Given the description of an element on the screen output the (x, y) to click on. 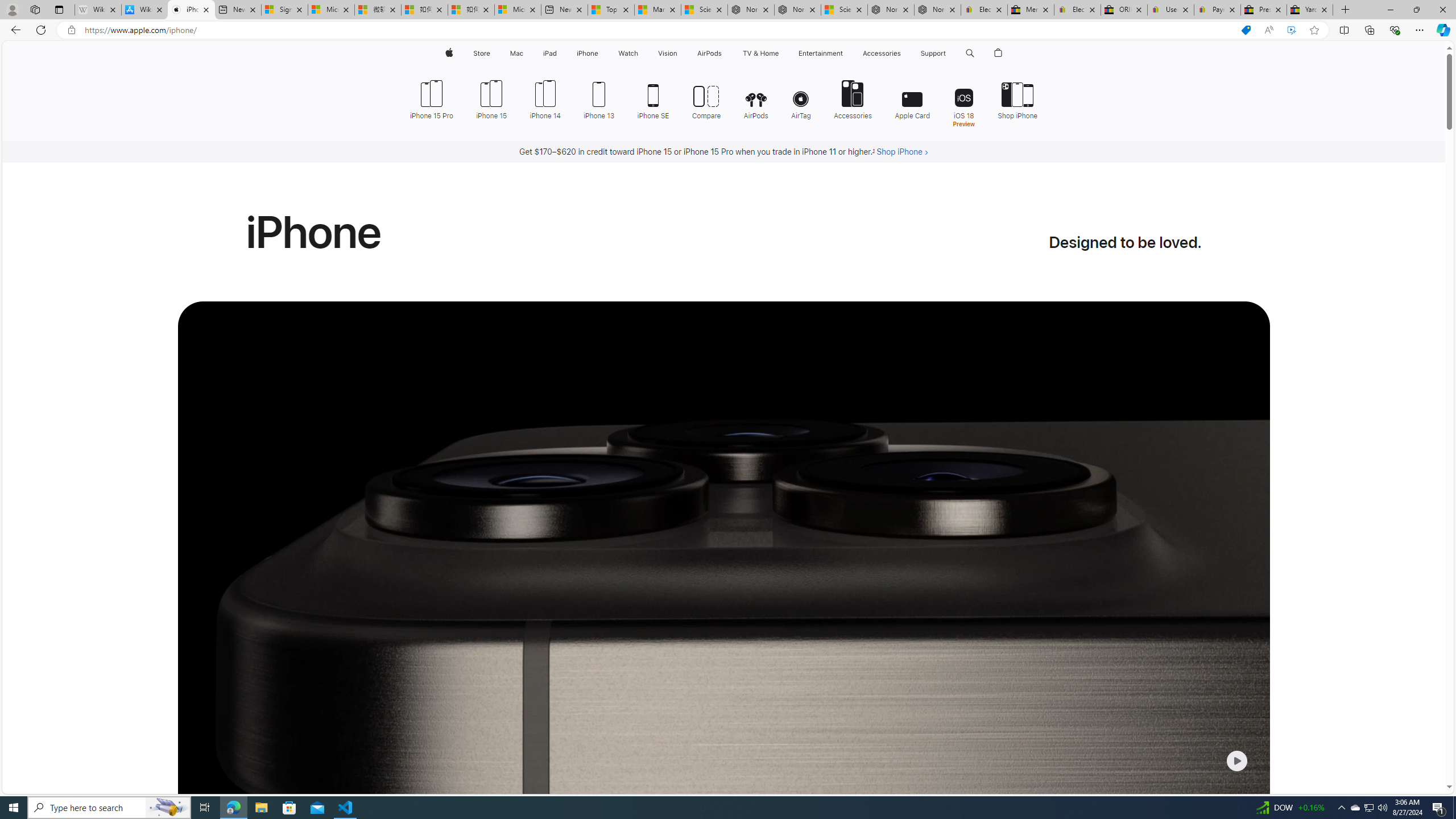
Mac menu (524, 53)
Compare (705, 98)
iPhone 14 (545, 98)
iPhone SE (653, 98)
iPhone - Apple (191, 9)
Press Room - eBay Inc. (1263, 9)
Accessories menu (903, 53)
TV and Home (759, 53)
Vision (667, 53)
Footnote 1 (873, 151)
Support (932, 53)
AutomationID: globalnav-bag (998, 53)
